Given the description of an element on the screen output the (x, y) to click on. 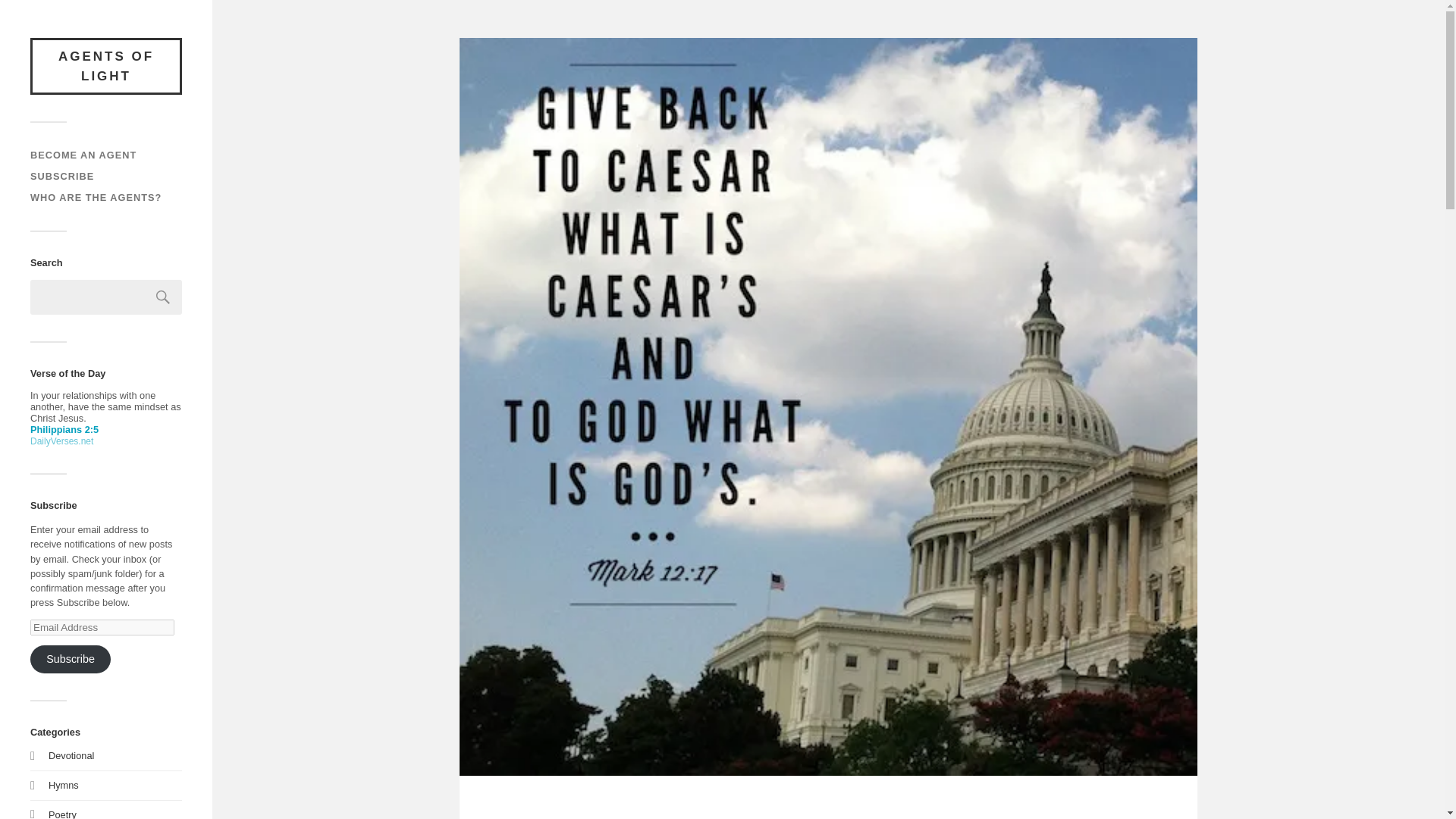
BECOME AN AGENT (83, 154)
Hymns (63, 785)
DailyVerses.net (61, 440)
Search (163, 297)
Subscribe (70, 659)
AGENTS OF LIGHT (106, 66)
WHO ARE THE AGENTS? (95, 197)
Devotional (71, 755)
Search (163, 297)
Philippians 2:5 (64, 429)
Poetry (62, 814)
SUBSCRIBE (62, 175)
